Given the description of an element on the screen output the (x, y) to click on. 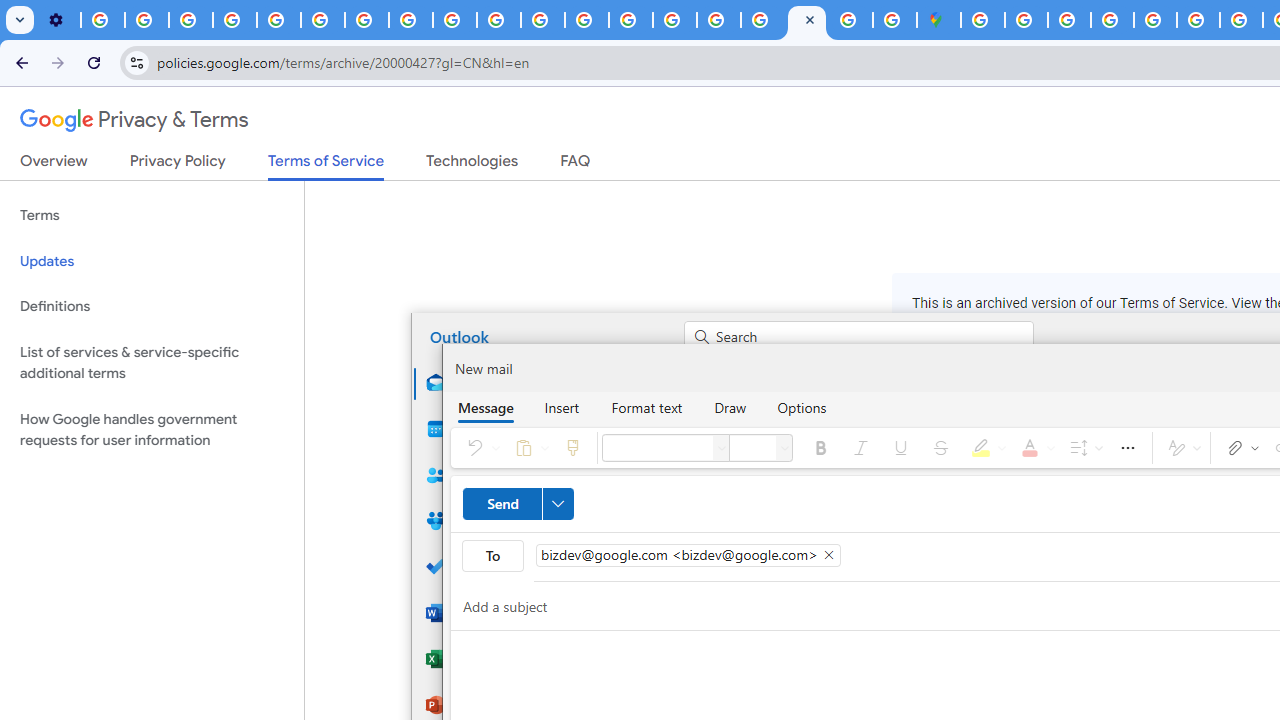
Text highlight color (985, 447)
Font (721, 448)
Undo (479, 447)
Format painter (572, 447)
More send options (557, 503)
Bold (820, 447)
Spacing (1083, 447)
Send (518, 503)
Message (485, 407)
Font color (1033, 447)
More options (1128, 447)
